Given the description of an element on the screen output the (x, y) to click on. 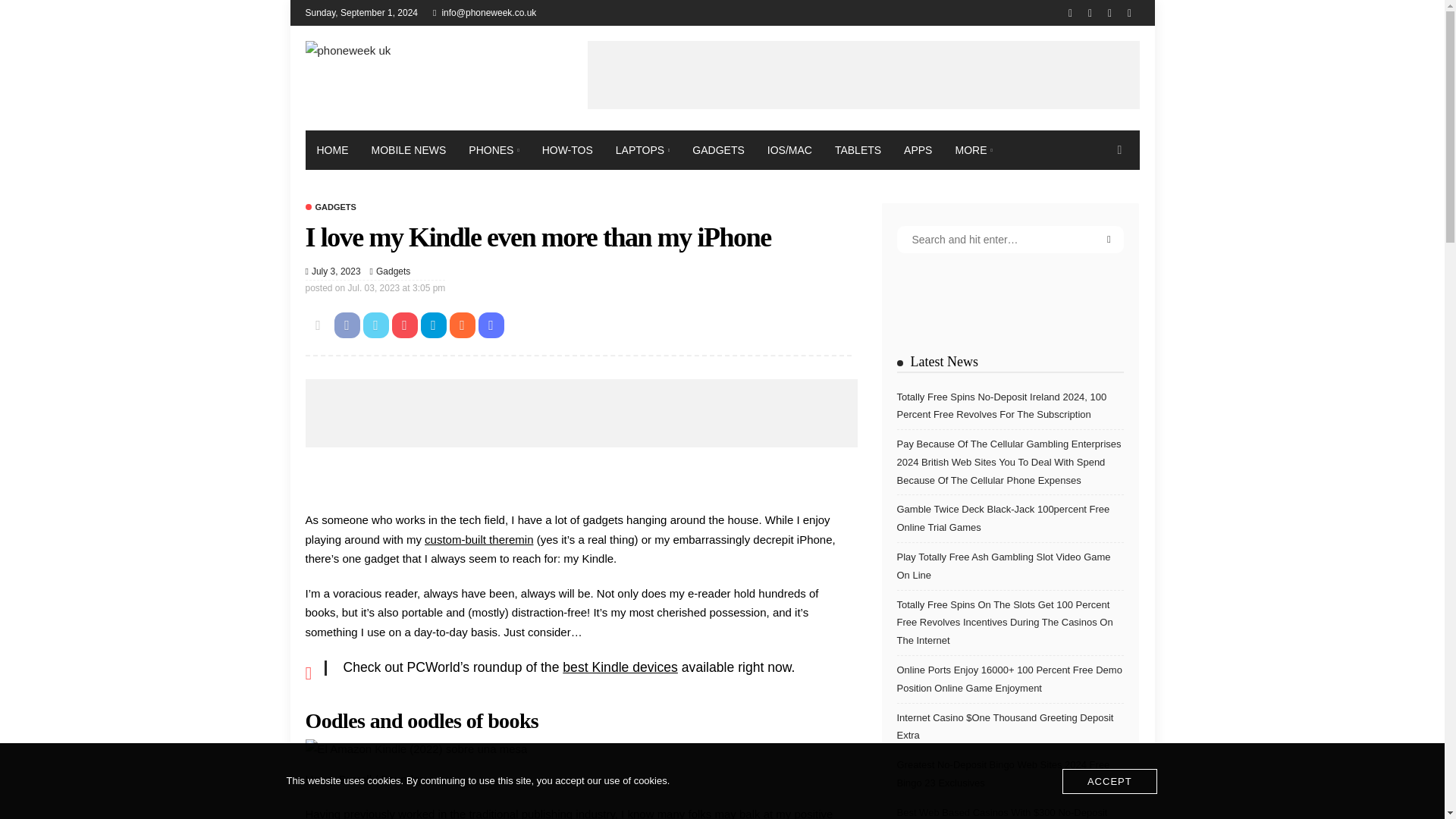
TABLETS (858, 149)
best Kindle devices (620, 667)
Gadgets (392, 271)
custom-built theremin (478, 539)
MORE (973, 149)
Gadgets (329, 207)
HOME (331, 149)
GADGETS (718, 149)
APPS (917, 149)
PHONES (493, 149)
